Given the description of an element on the screen output the (x, y) to click on. 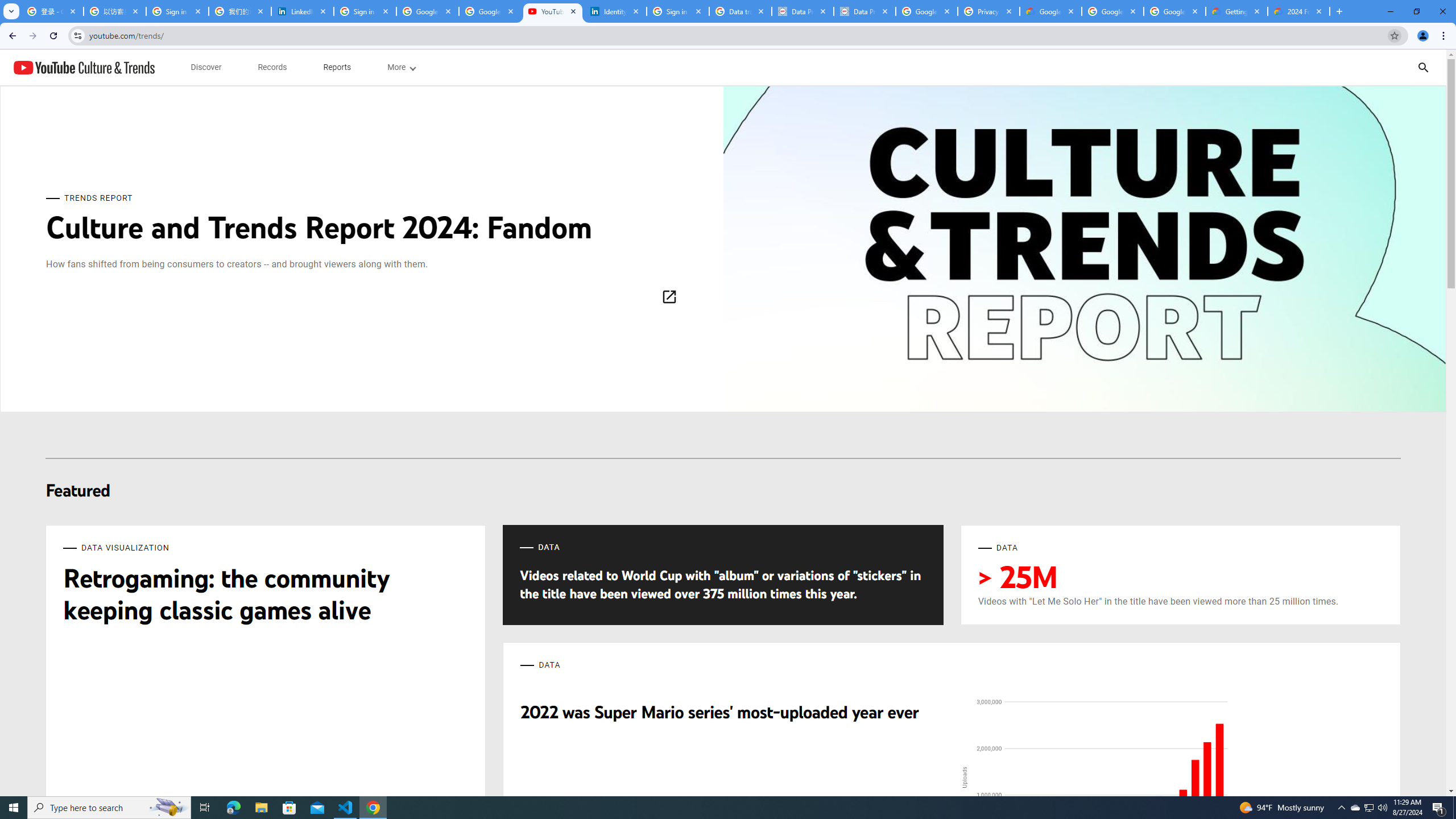
Google Workspace - Specific Terms (1174, 11)
Data Privacy Framework (802, 11)
YouTube Culture & Trends (83, 67)
LinkedIn Privacy Policy (302, 11)
